Given the description of an element on the screen output the (x, y) to click on. 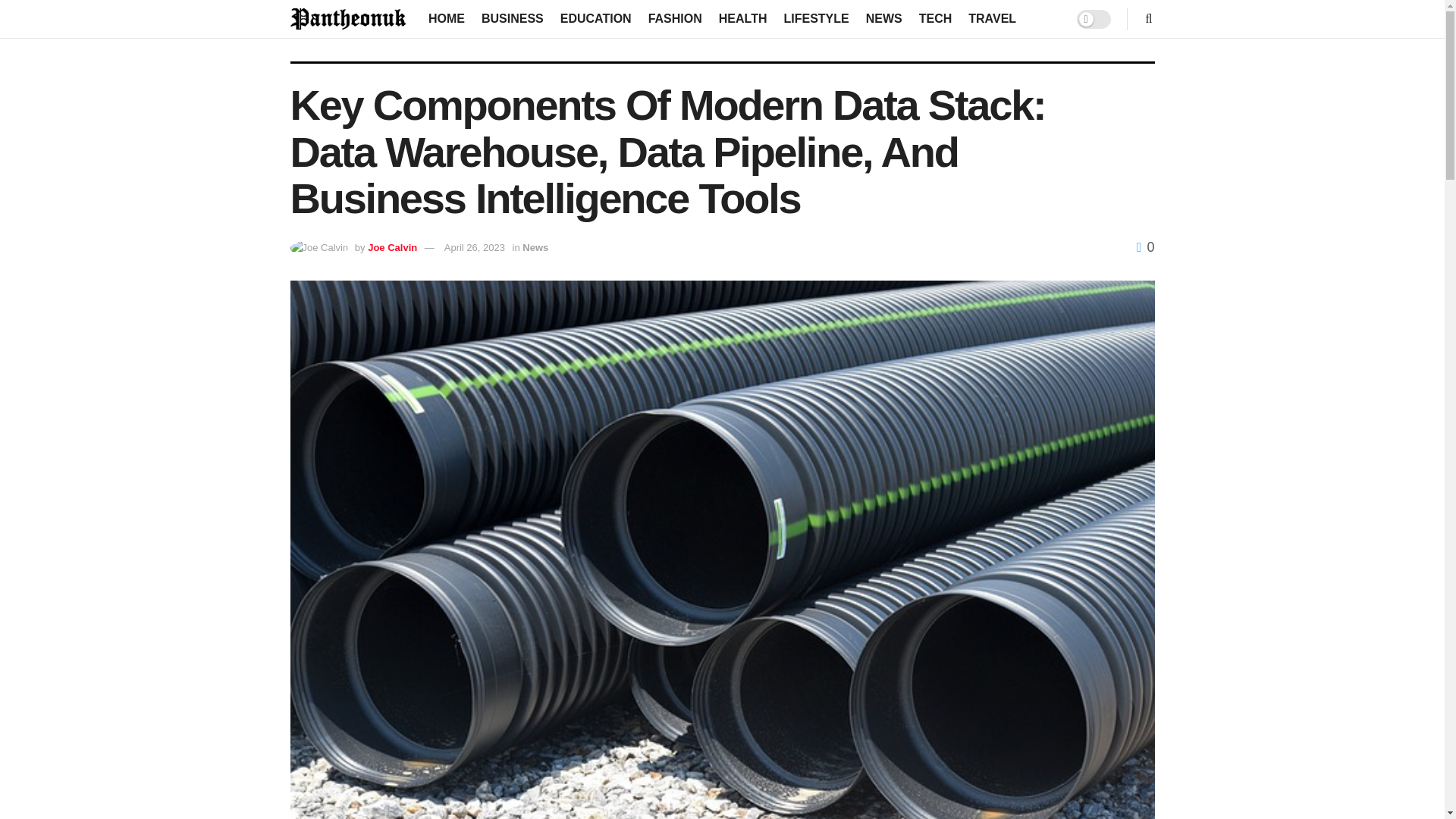
NEWS (884, 18)
EDUCATION (595, 18)
FASHION (674, 18)
April 26, 2023 (474, 247)
TECH (935, 18)
LIFESTYLE (815, 18)
HEALTH (743, 18)
TRAVEL (992, 18)
BUSINESS (512, 18)
HOME (446, 18)
